Given the description of an element on the screen output the (x, y) to click on. 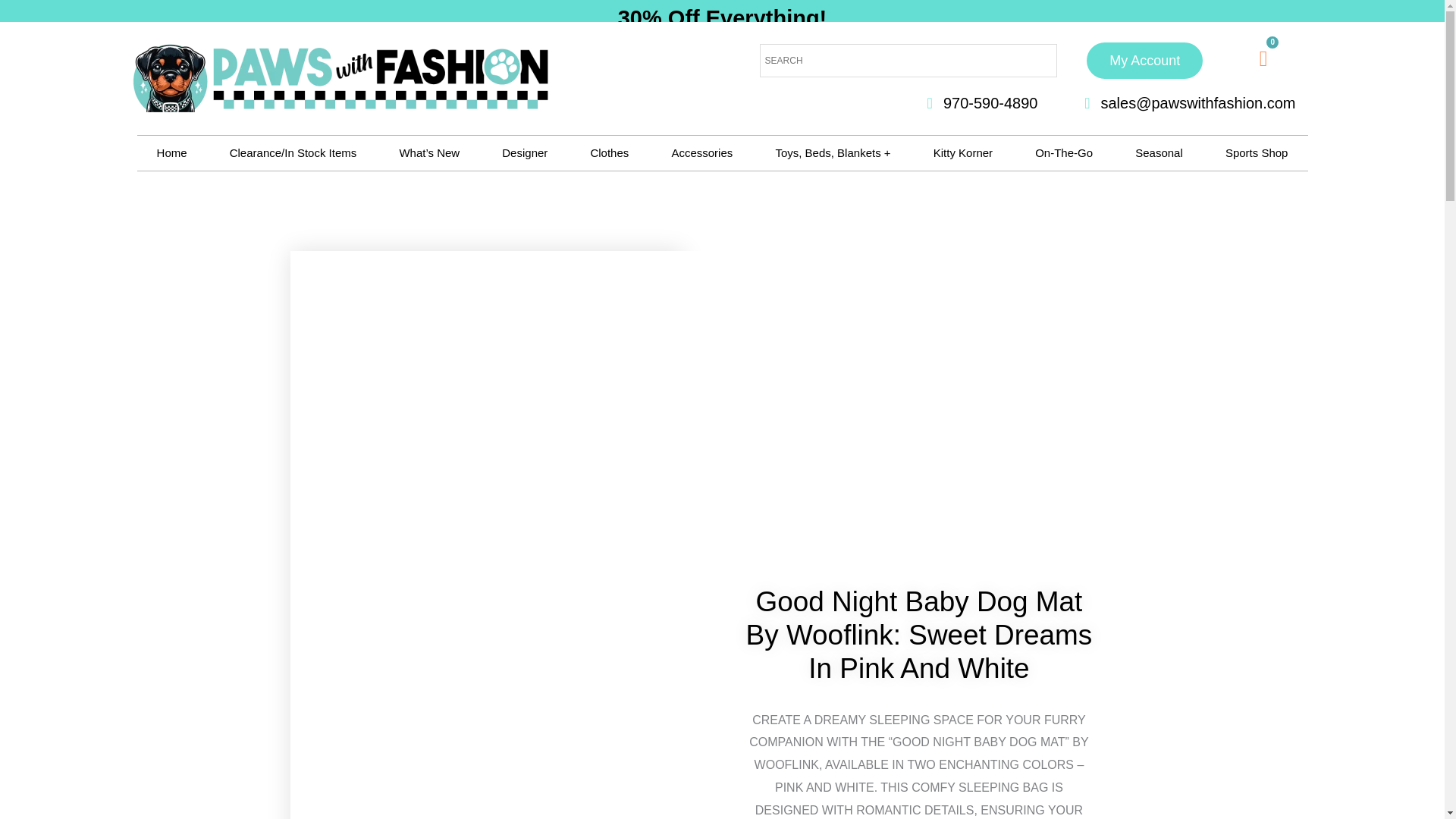
My Account (1144, 60)
Home (171, 152)
970-590-4890 (976, 103)
Designer (524, 152)
